Given the description of an element on the screen output the (x, y) to click on. 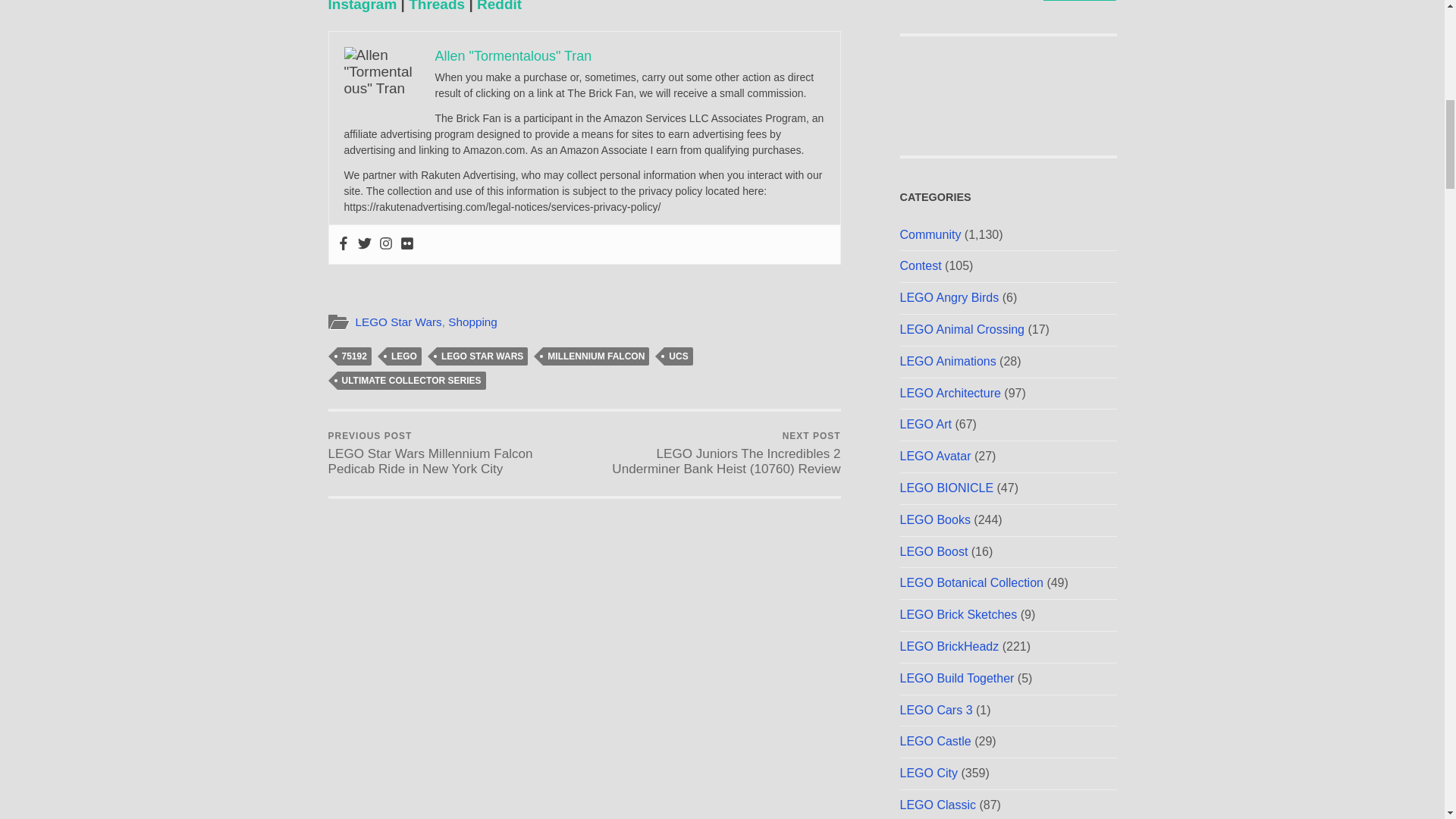
75192 (353, 356)
LEGO Star Wars (398, 321)
Reddit (499, 6)
LEGO (404, 356)
Shopping (472, 321)
Instagram (361, 6)
Threads (436, 6)
Allen "Tormentalous" Tran (513, 55)
